Given the description of an element on the screen output the (x, y) to click on. 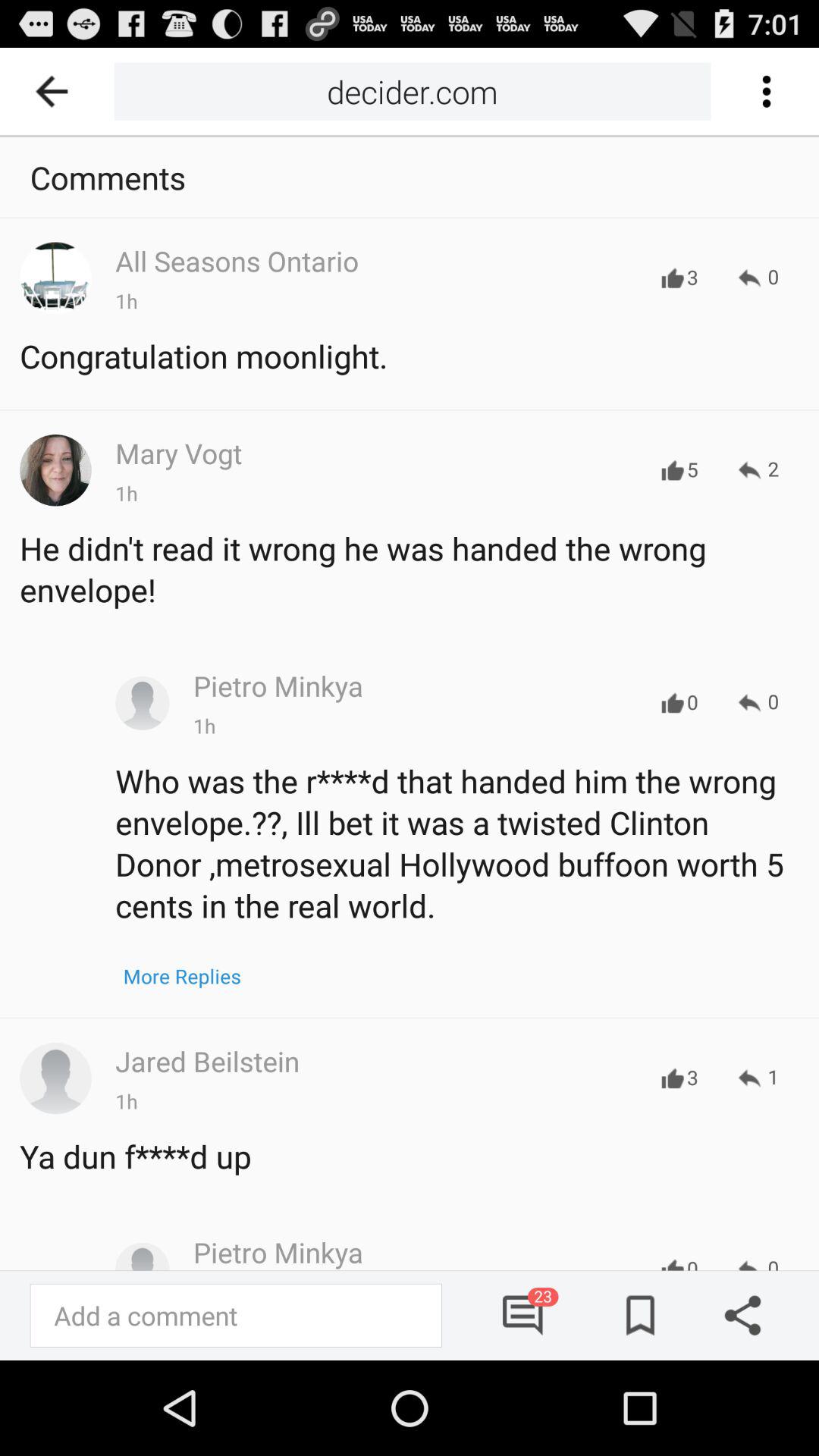
go to options (765, 91)
